Given the description of an element on the screen output the (x, y) to click on. 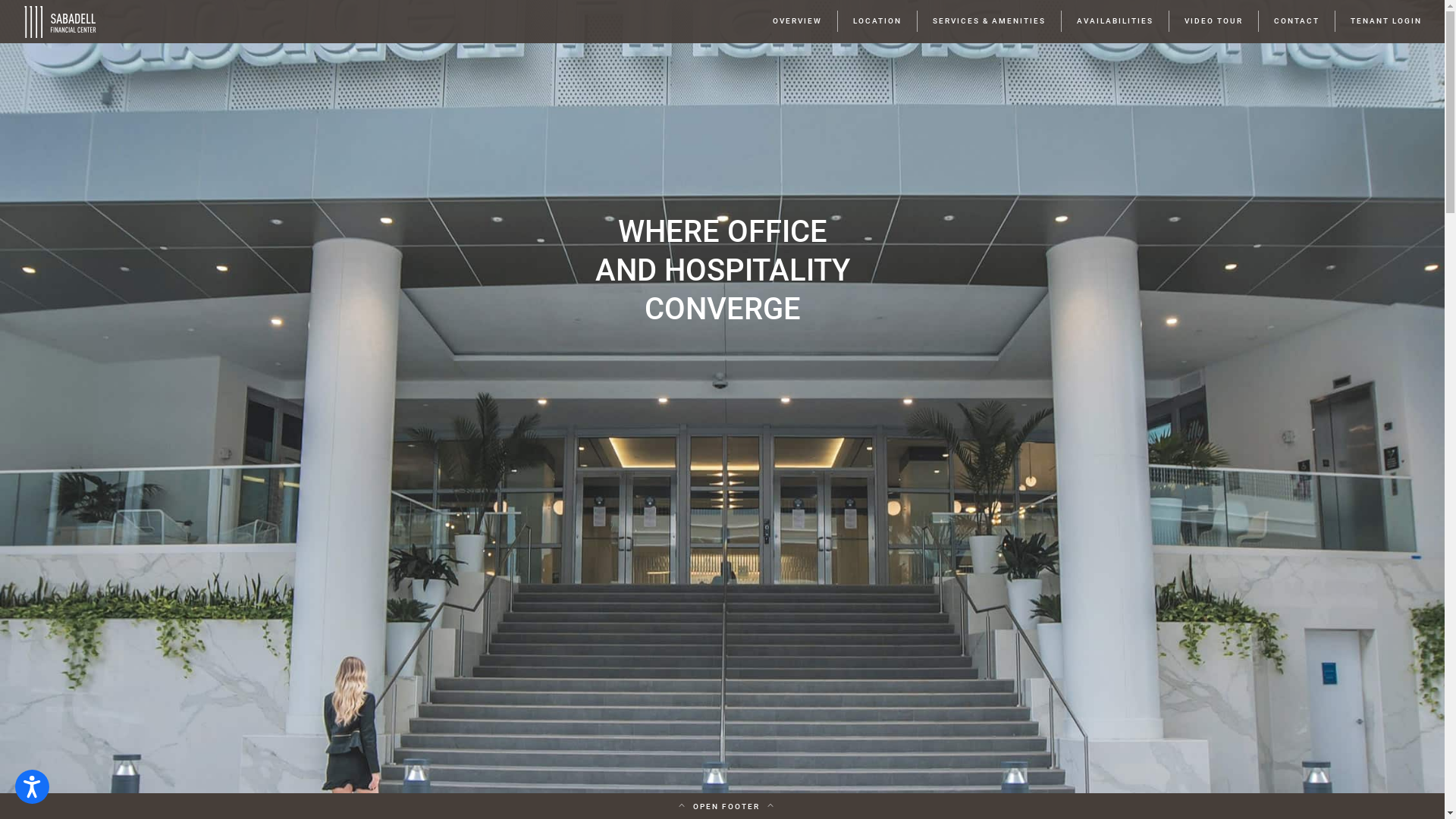
CONTACT Element type: text (1296, 20)
SERVICES & AMENITIES Element type: text (988, 20)
LOCATION Element type: text (876, 20)
TENANT LOGIN Element type: text (1386, 20)
AVAILABILITIES Element type: text (1114, 20)
OVERVIEW Element type: text (797, 20)
VIDEO TOUR Element type: text (1213, 20)
